Given the description of an element on the screen output the (x, y) to click on. 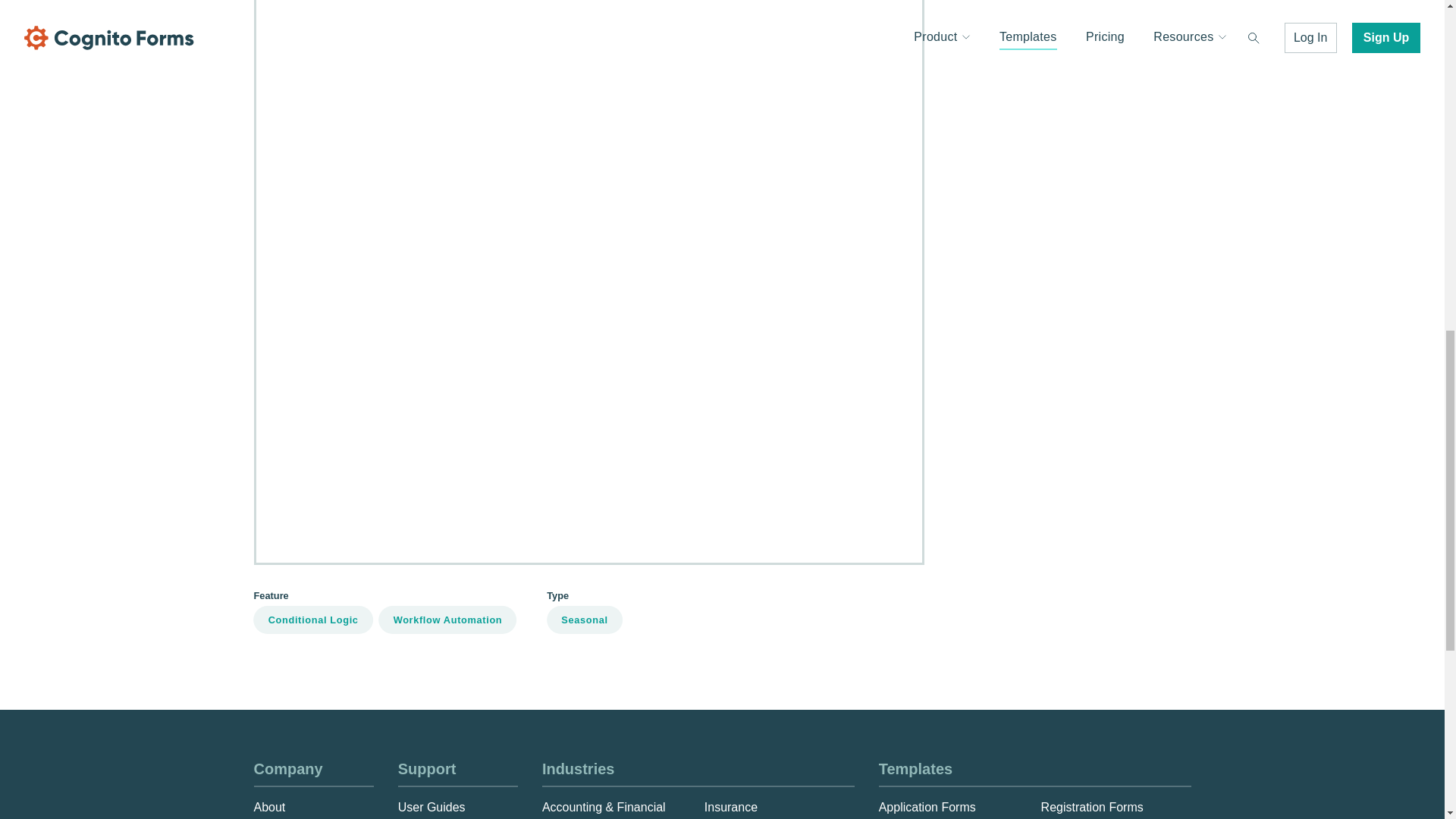
Patient Satisfaction Survey (1025, 330)
New Patient Registration - Adults (1042, 250)
Parade Registration Form (1022, 304)
Halloween Trivia 2021 (1012, 91)
Legal Engagement Letter and Fee Agreement Form (1091, 197)
Pool Party Invitation (1007, 410)
Sponsorship Form Template with Auto-Generated Invoice (1106, 490)
Grant Application Template (1025, 38)
Advanced Scholarship Application (1044, 463)
General Contact Form for Law Firms (1051, 144)
Key Release Form (1003, 118)
PHQ-9 Depression Screening Template with Automated Scoring (1124, 383)
